Given the description of an element on the screen output the (x, y) to click on. 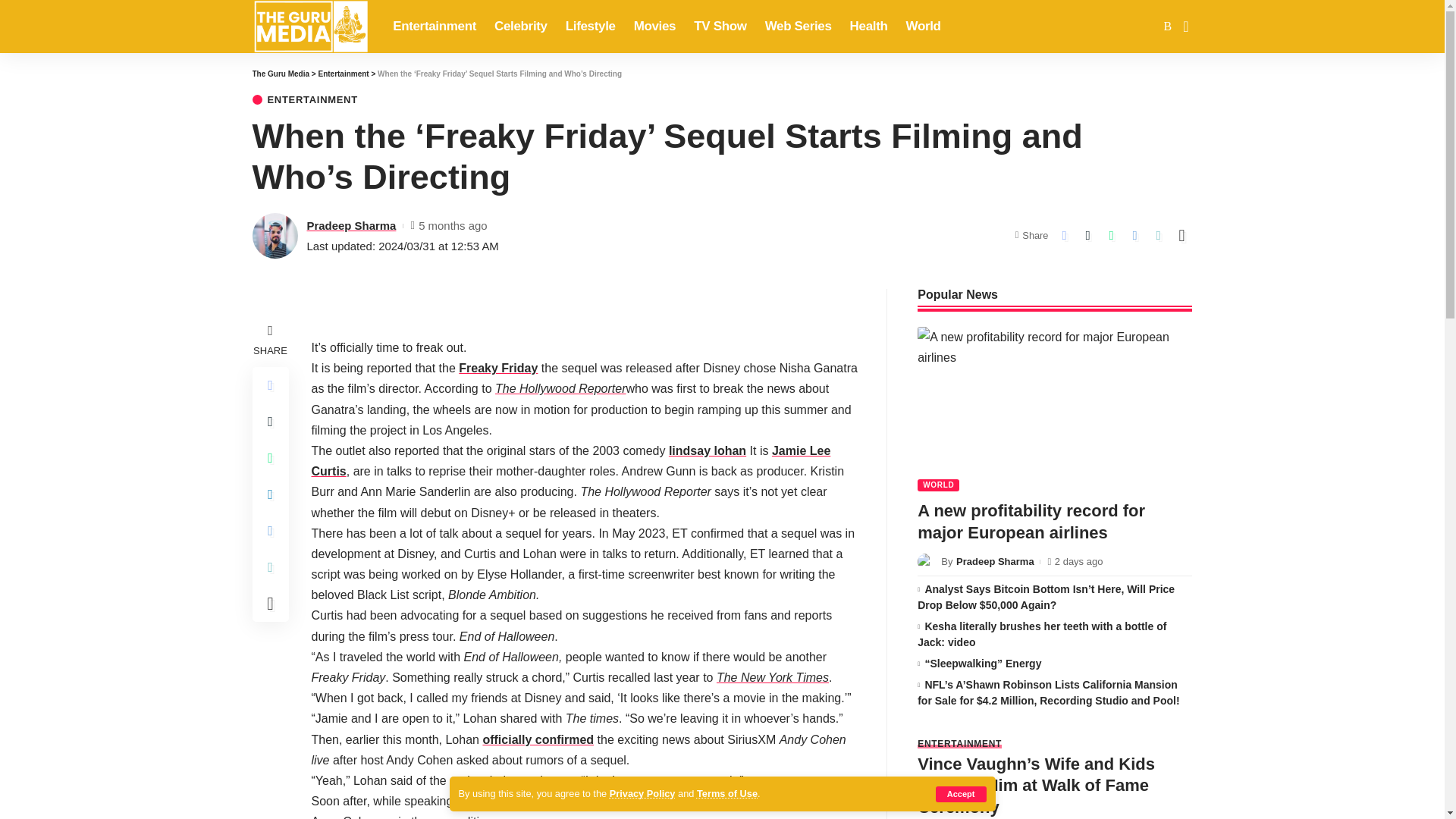
Accept (961, 794)
Terms of Use (727, 793)
Privacy Policy (642, 793)
A new profitability record for major European airlines (1054, 408)
Entertainment (434, 26)
Go to The Guru Media. (279, 73)
World (923, 26)
Movies (654, 26)
TV Show (719, 26)
Celebrity (520, 26)
